Given the description of an element on the screen output the (x, y) to click on. 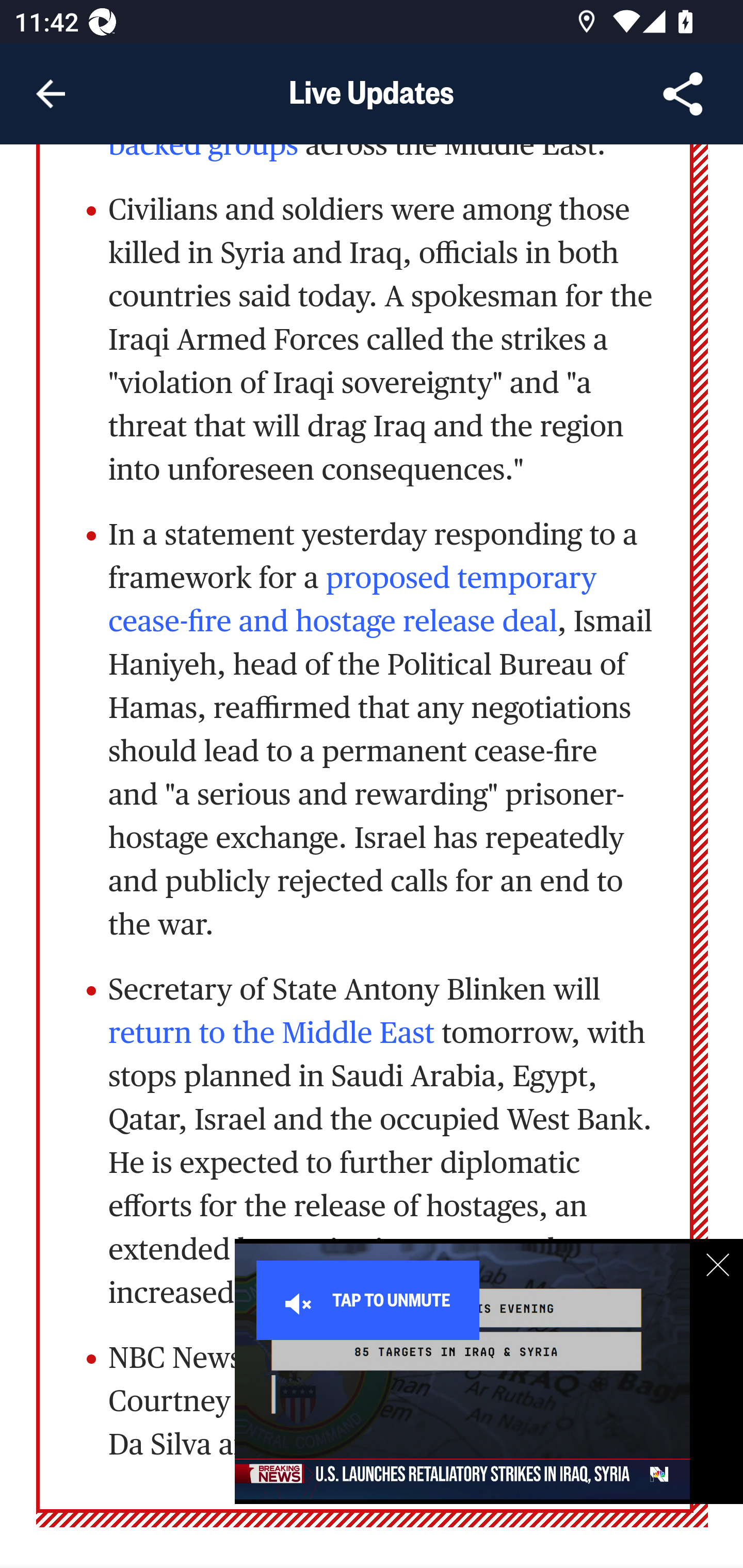
Navigate up (50, 93)
Share Article, button (683, 94)
return to the Middle East (271, 1034)
